Given the description of an element on the screen output the (x, y) to click on. 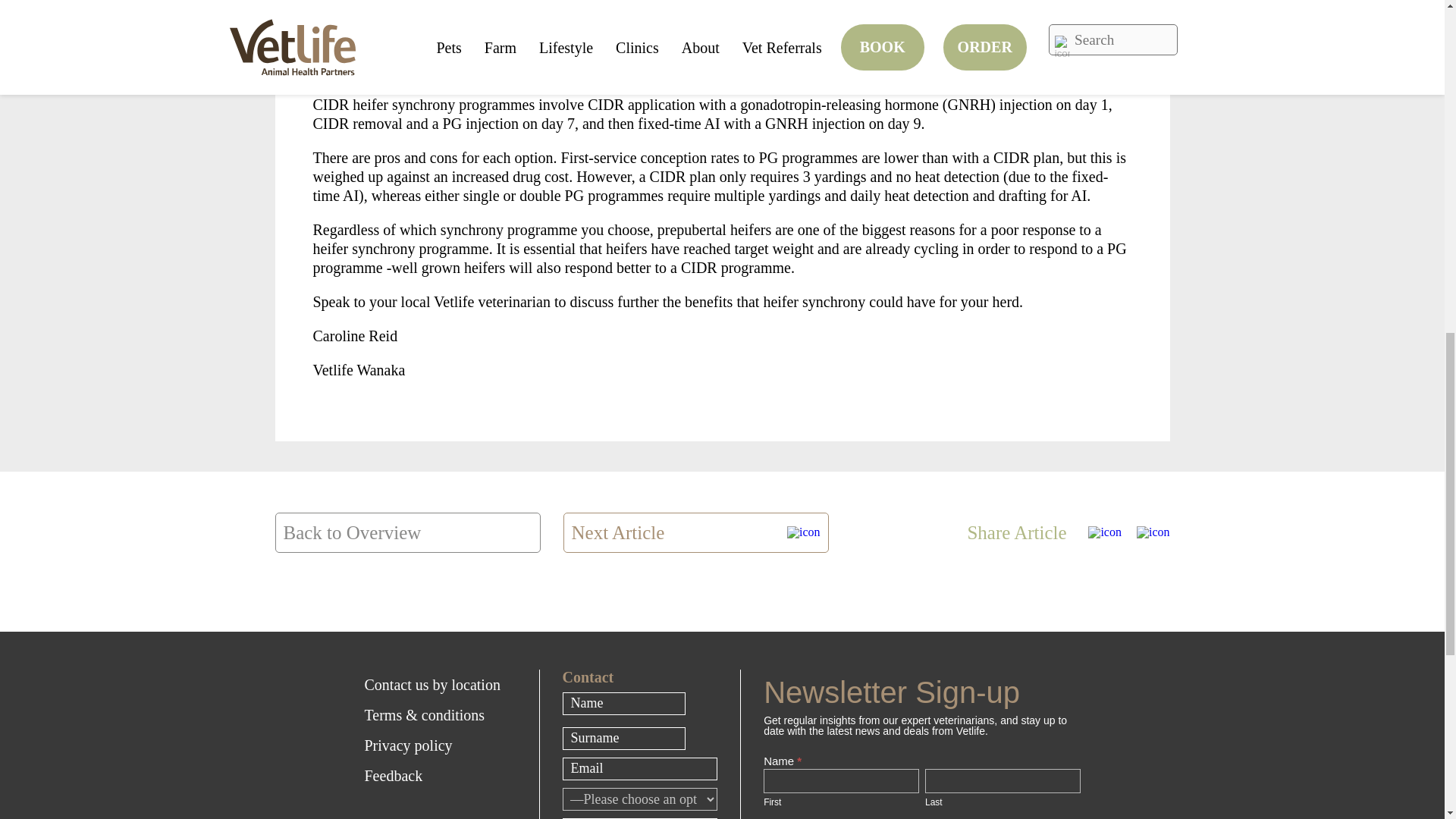
Next Article (695, 532)
Back to Overview (407, 532)
Privacy policy (439, 745)
Contact us by location (439, 684)
Feedback (439, 775)
